Given the description of an element on the screen output the (x, y) to click on. 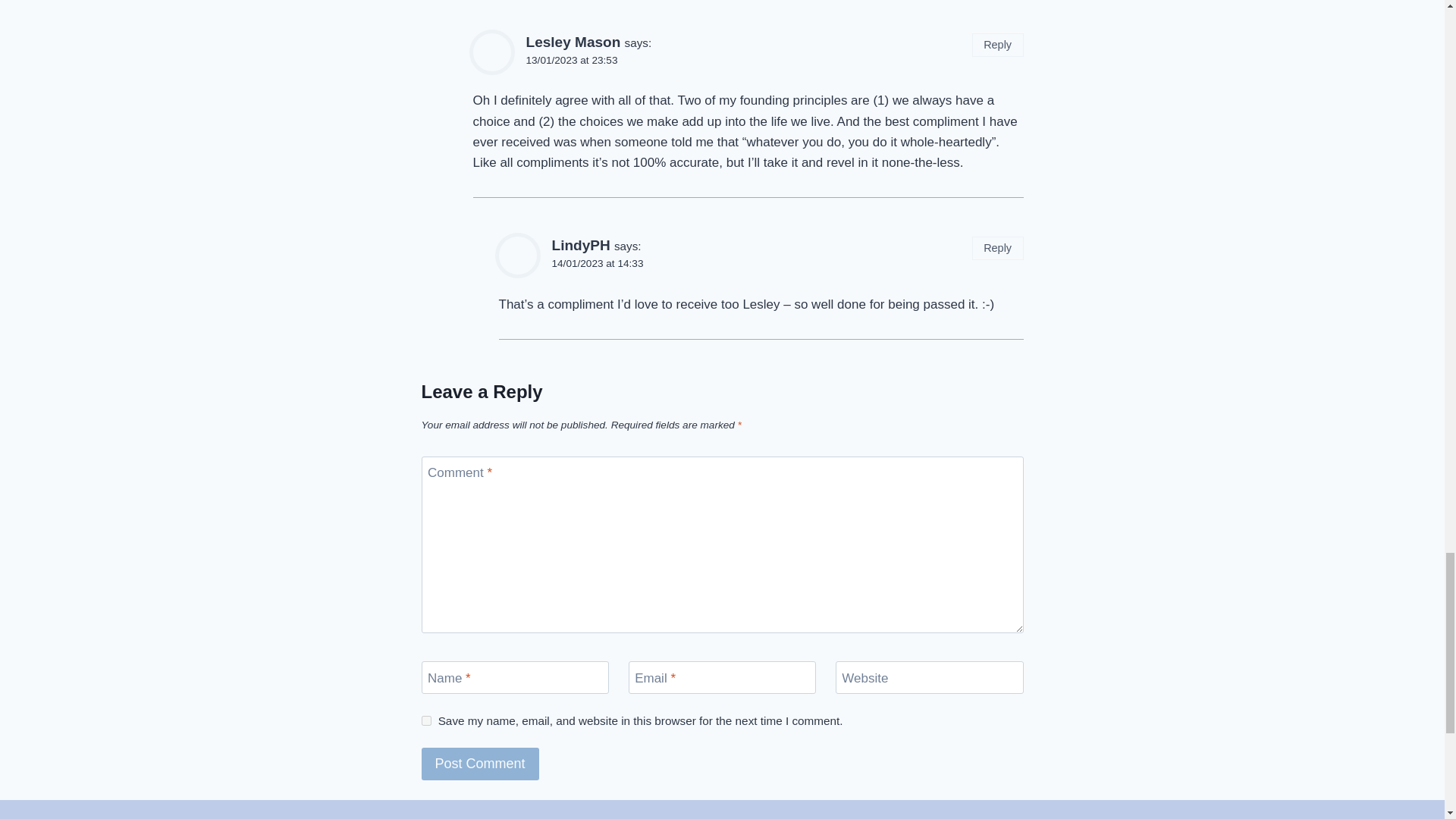
yes (426, 720)
Post Comment (480, 763)
